Given the description of an element on the screen output the (x, y) to click on. 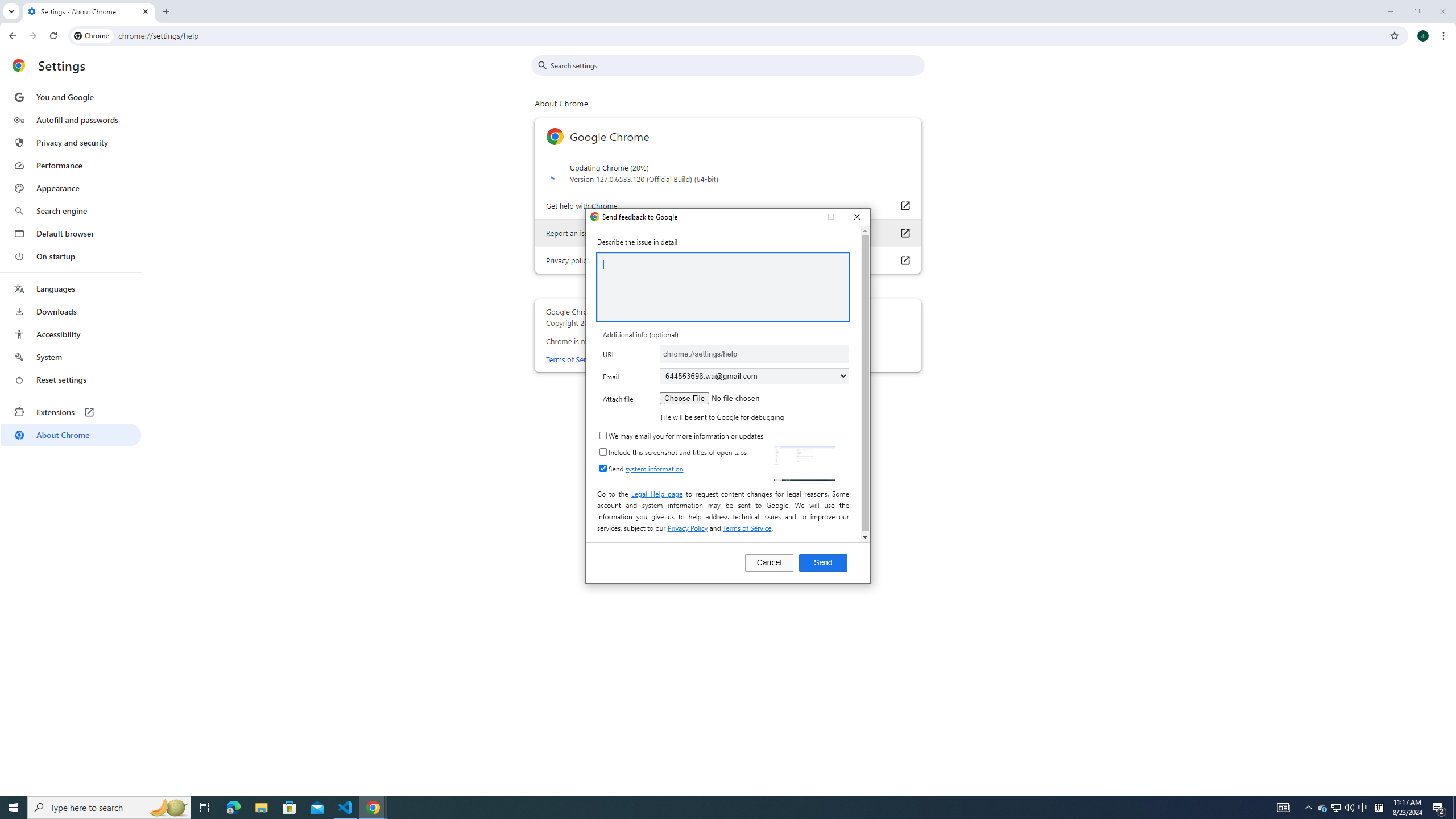
Search settings (735, 65)
Send (823, 562)
Cancel (769, 562)
We may email you for more information or updates (603, 434)
Running applications (700, 807)
Show desktop (1454, 807)
Terms of Service (746, 527)
Microsoft Store (289, 807)
Report an issue (904, 232)
Downloads (70, 311)
Languages (70, 288)
